Given the description of an element on the screen output the (x, y) to click on. 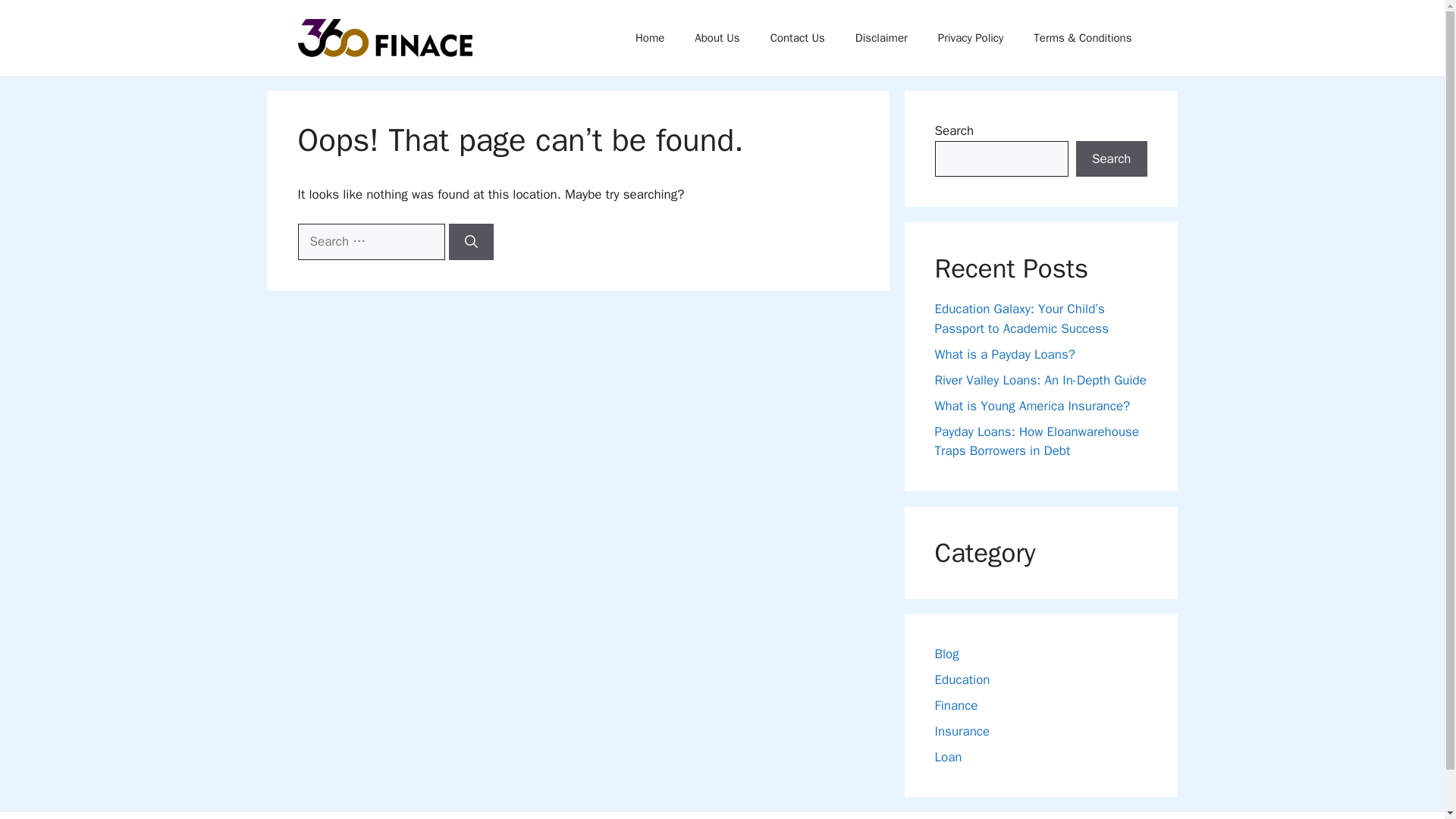
What is a Payday Loans? (1004, 353)
Home (649, 37)
River Valley Loans: An In-Depth Guide (1039, 379)
Blog (946, 653)
Search (1111, 158)
What is Young America Insurance? (1031, 405)
Insurance (962, 731)
About Us (716, 37)
Privacy Policy (971, 37)
Search for: (370, 241)
Finance (955, 705)
Education (962, 679)
Loan (947, 756)
Payday Loans: How Eloanwarehouse Traps Borrowers in Debt (1036, 440)
Disclaimer (881, 37)
